Given the description of an element on the screen output the (x, y) to click on. 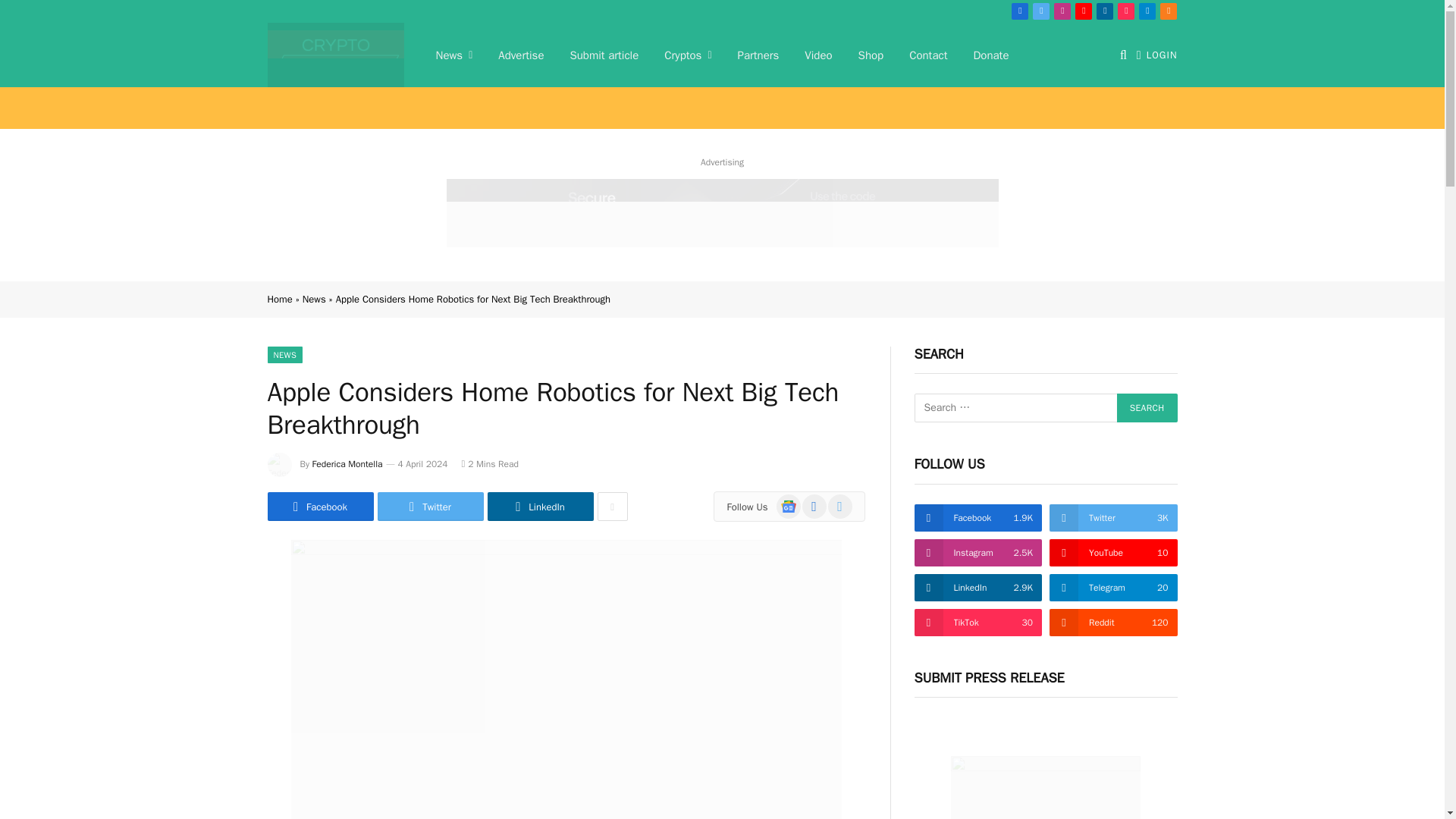
Facebook (1019, 11)
YouTube (1083, 11)
Search (1146, 407)
Telegram (1147, 11)
Instagram (1062, 11)
Show More Social Sharing (611, 506)
Share on LinkedIn (539, 506)
LinkedIn (1104, 11)
Submit article (603, 54)
TikTok (1126, 11)
